Given the description of an element on the screen output the (x, y) to click on. 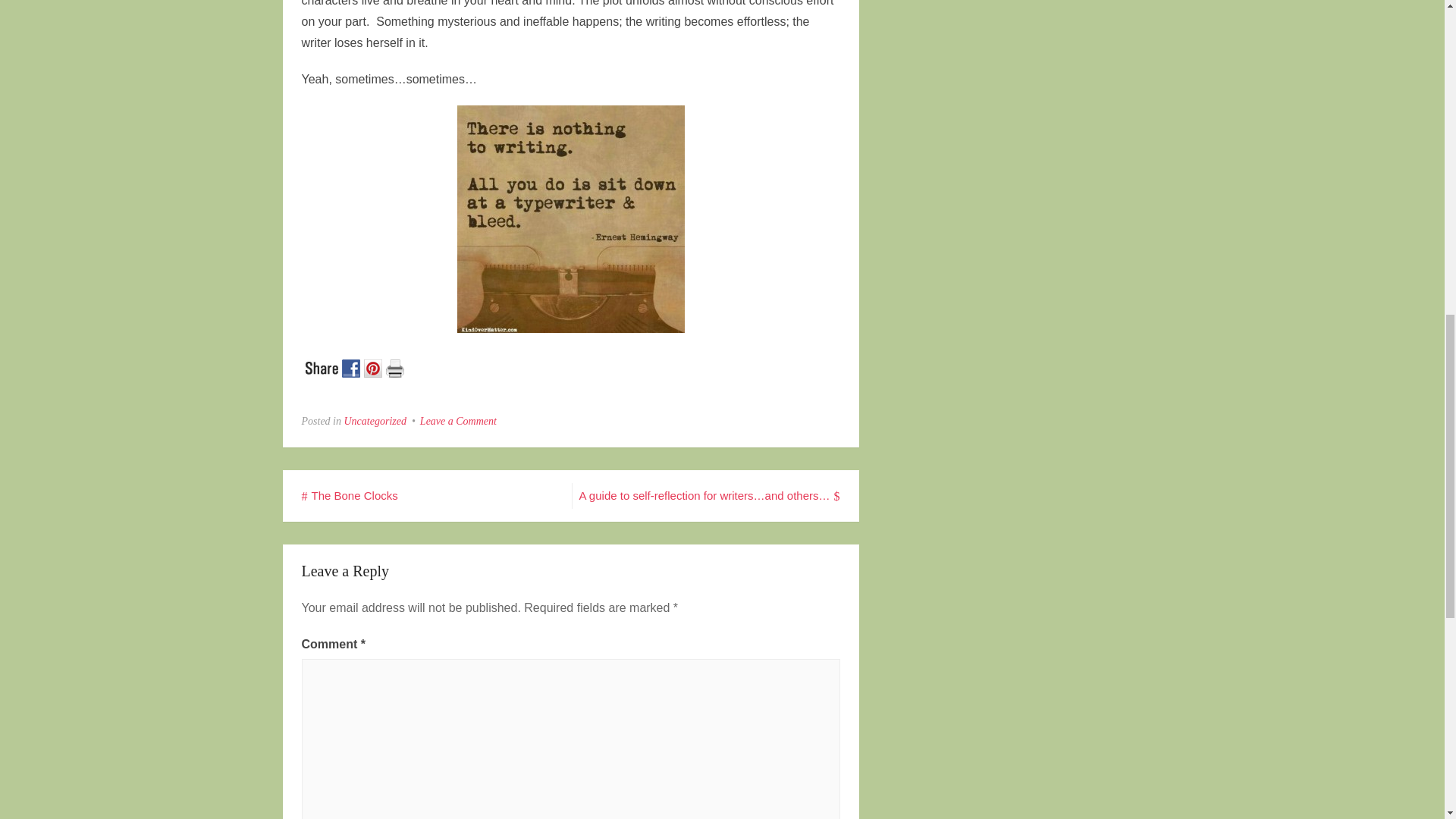
Pinterest (374, 366)
Print (396, 366)
Facebook (351, 366)
